Given the description of an element on the screen output the (x, y) to click on. 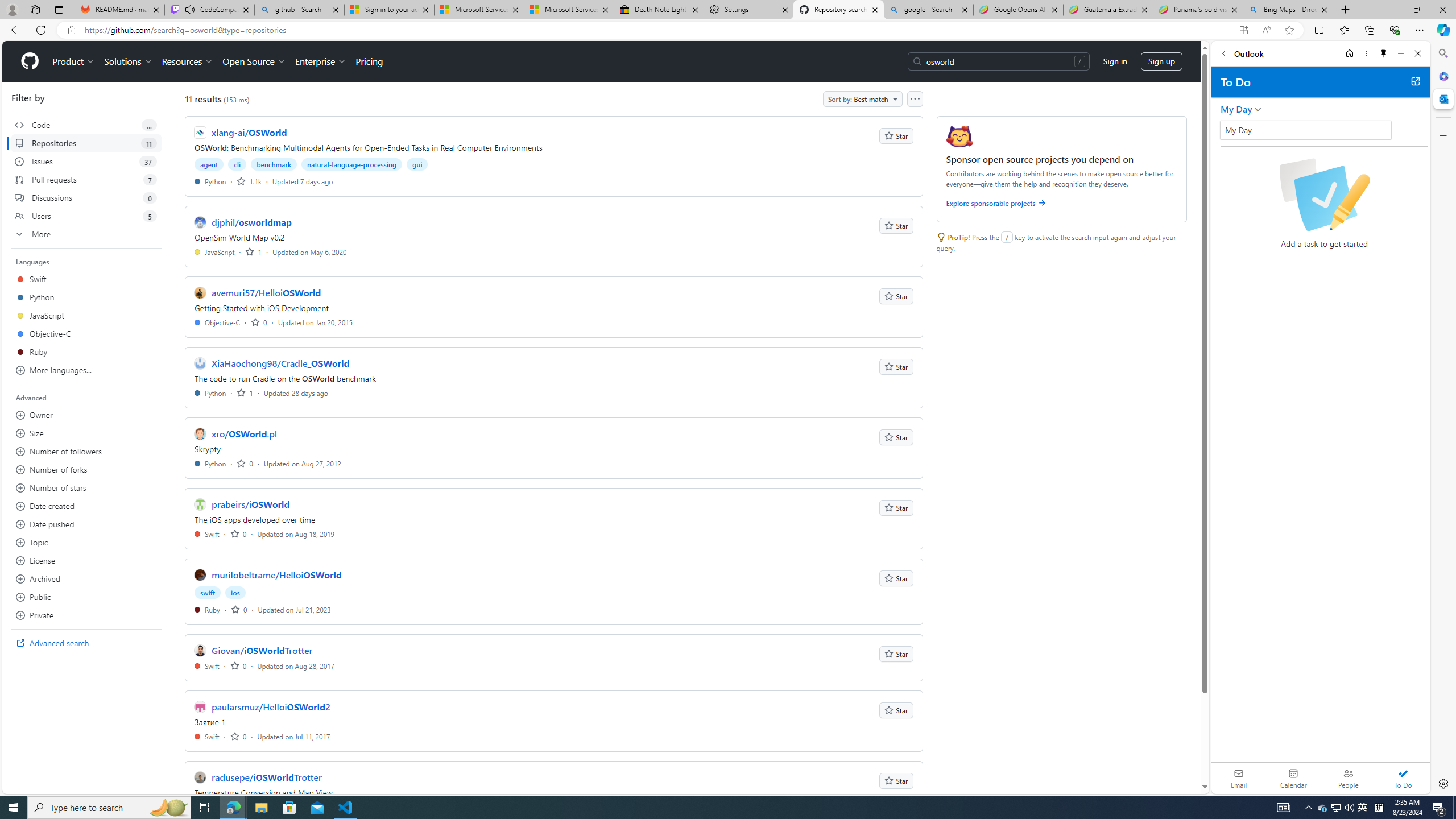
Enterprise (319, 60)
Updated 7 days ago (302, 181)
Open in new tab (1414, 80)
natural-language-processing (352, 164)
Star (895, 780)
Microsoft Services Agreement (568, 9)
murilobeltrame/HelloiOSWorld (276, 574)
